Given the description of an element on the screen output the (x, y) to click on. 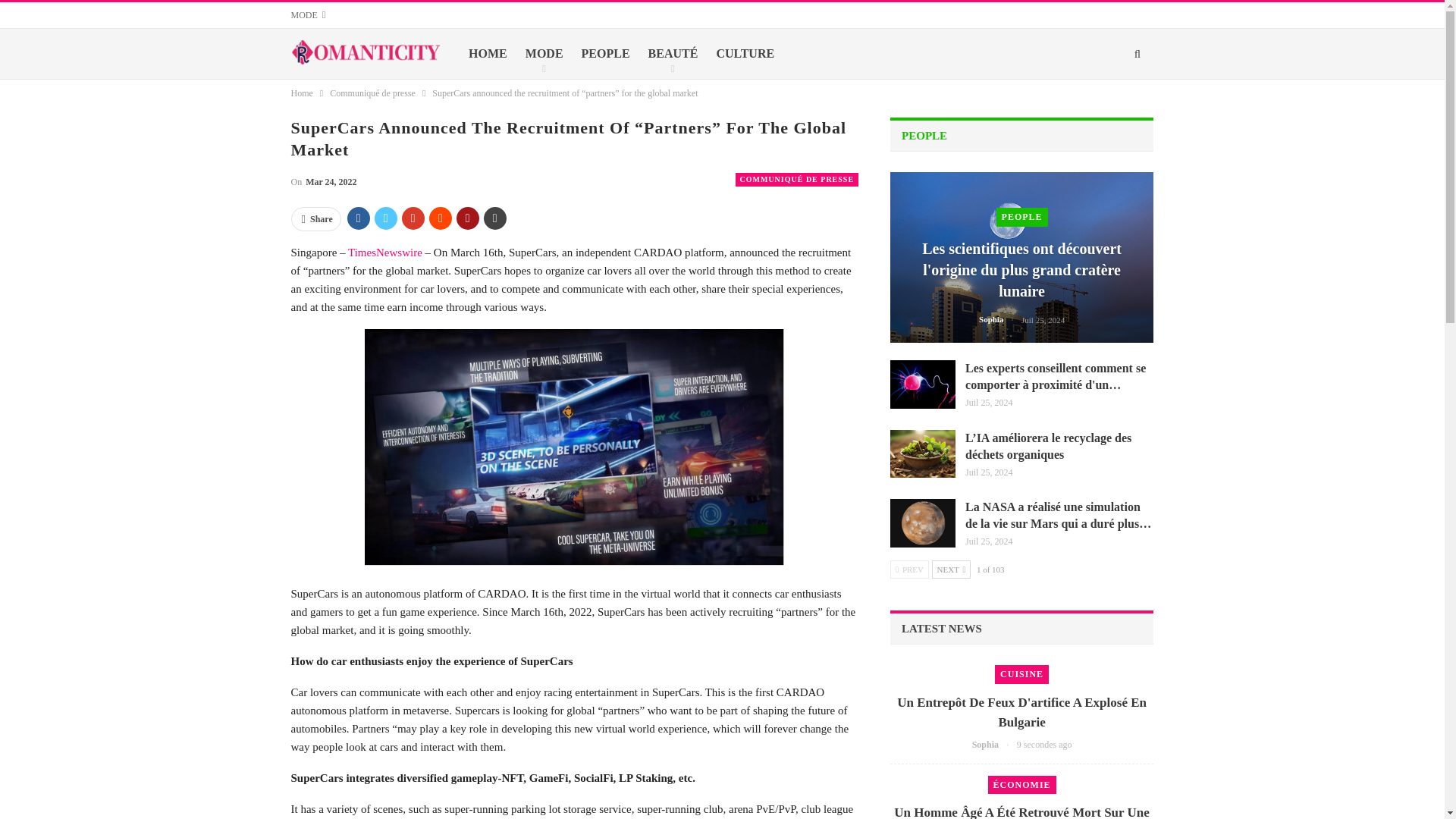
MODE (544, 53)
HOME (487, 53)
PEOPLE (605, 53)
MODE (308, 14)
CULTURE (744, 53)
